Given the description of an element on the screen output the (x, y) to click on. 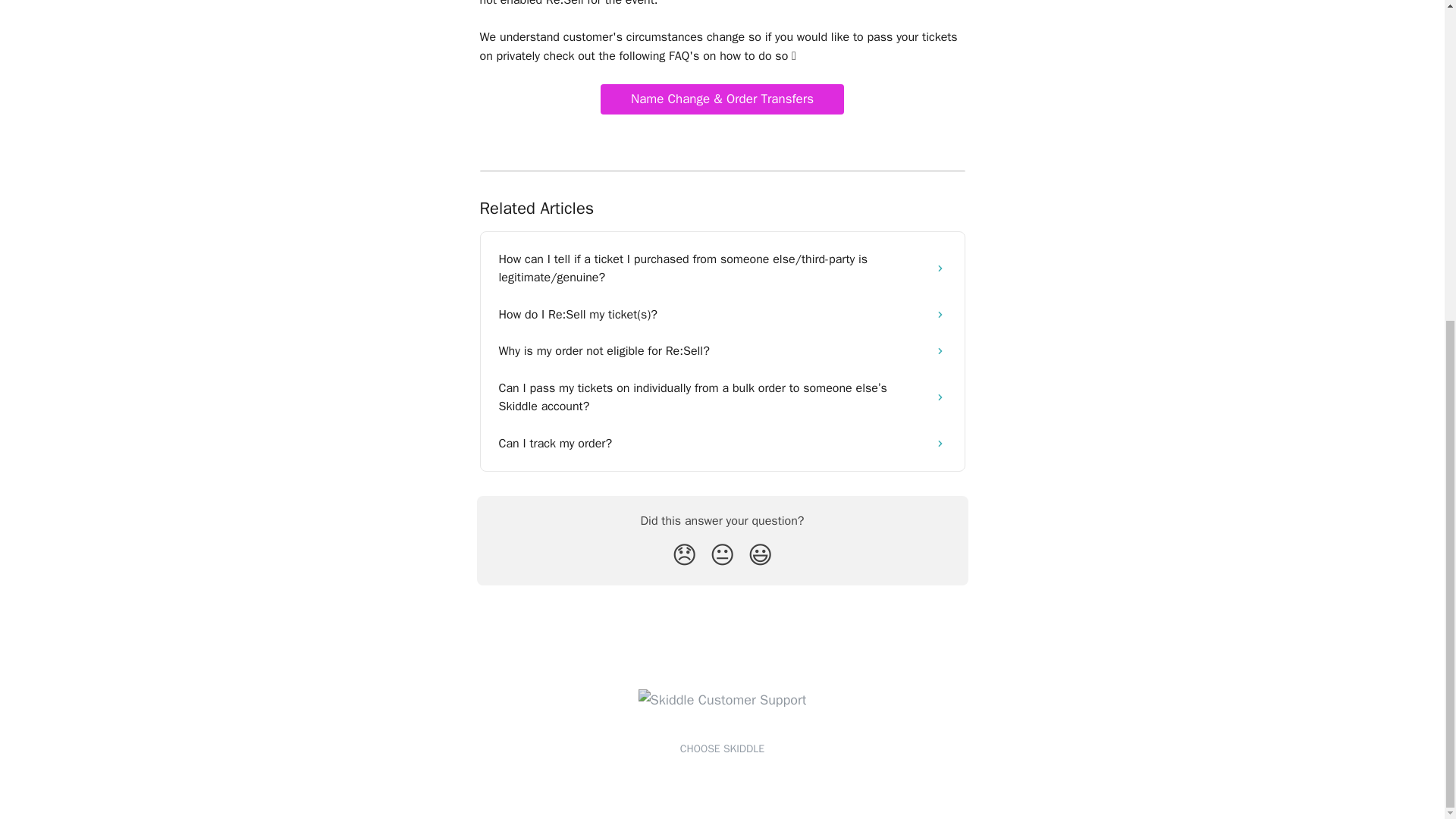
CHOOSE SKIDDLE (721, 748)
Why is my order not eligible for Re:Sell? (722, 350)
Can I track my order? (722, 443)
